Given the description of an element on the screen output the (x, y) to click on. 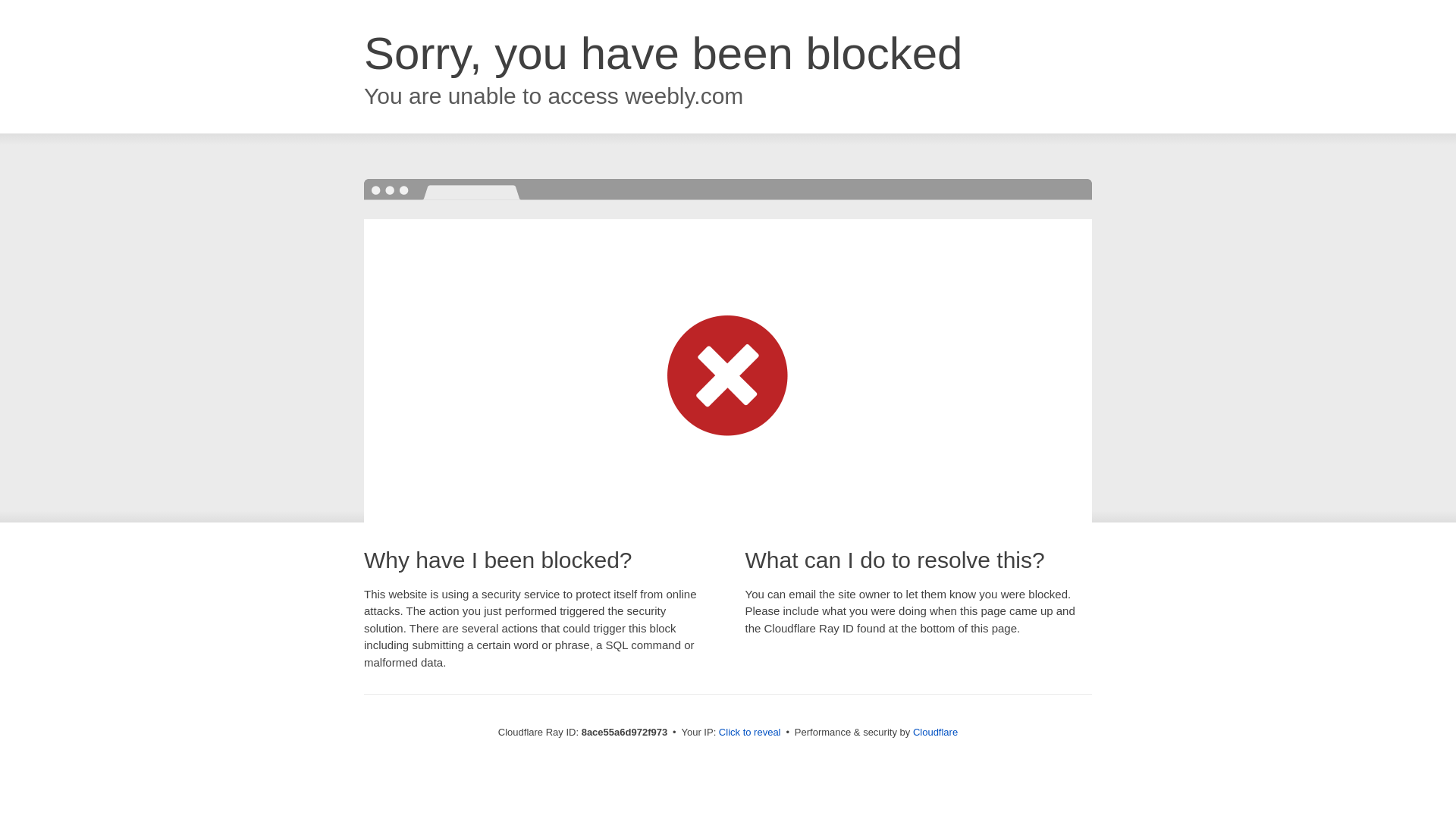
Click to reveal (749, 732)
Cloudflare (935, 731)
